Given the description of an element on the screen output the (x, y) to click on. 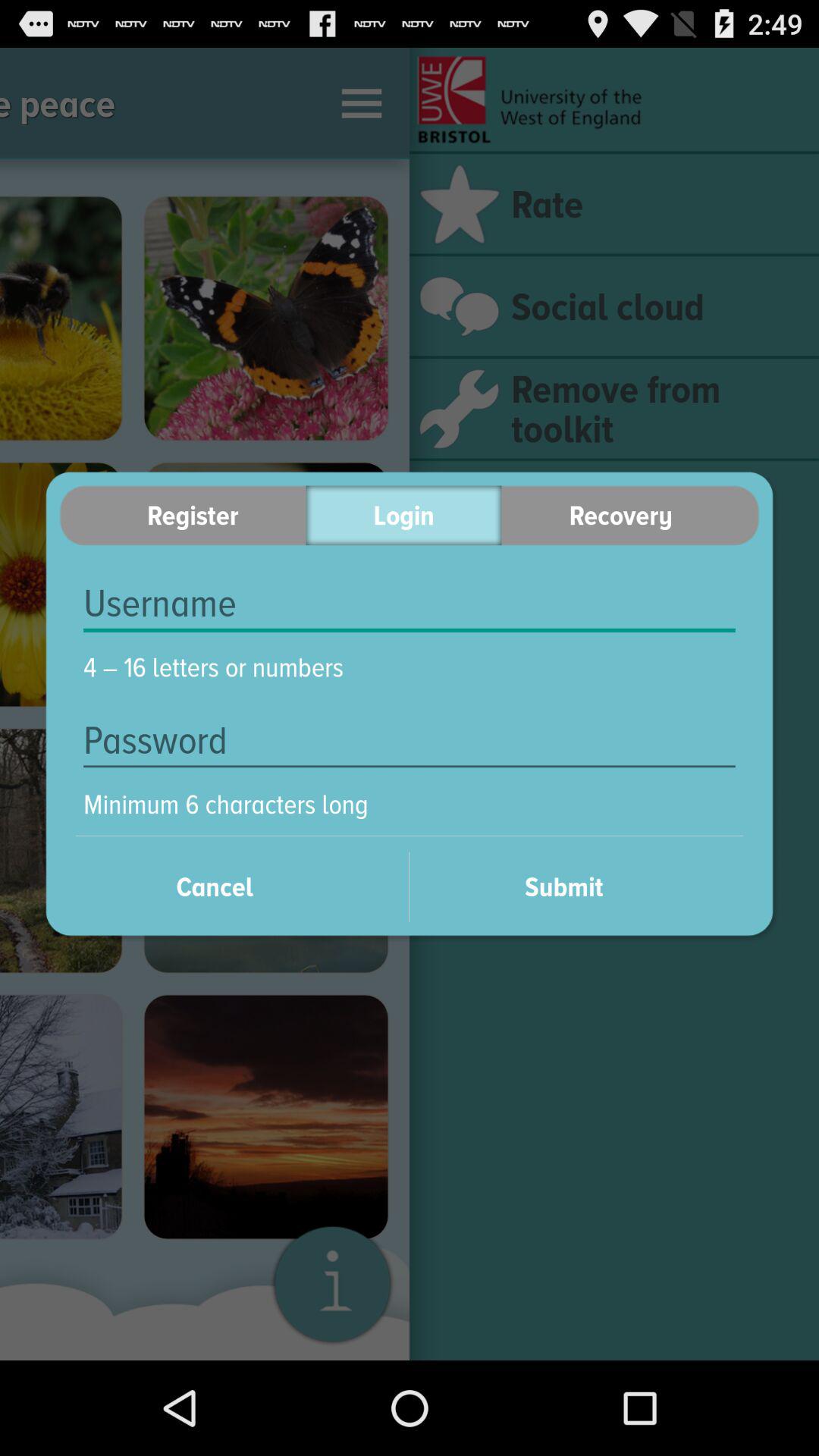
text box (409, 603)
